Given the description of an element on the screen output the (x, y) to click on. 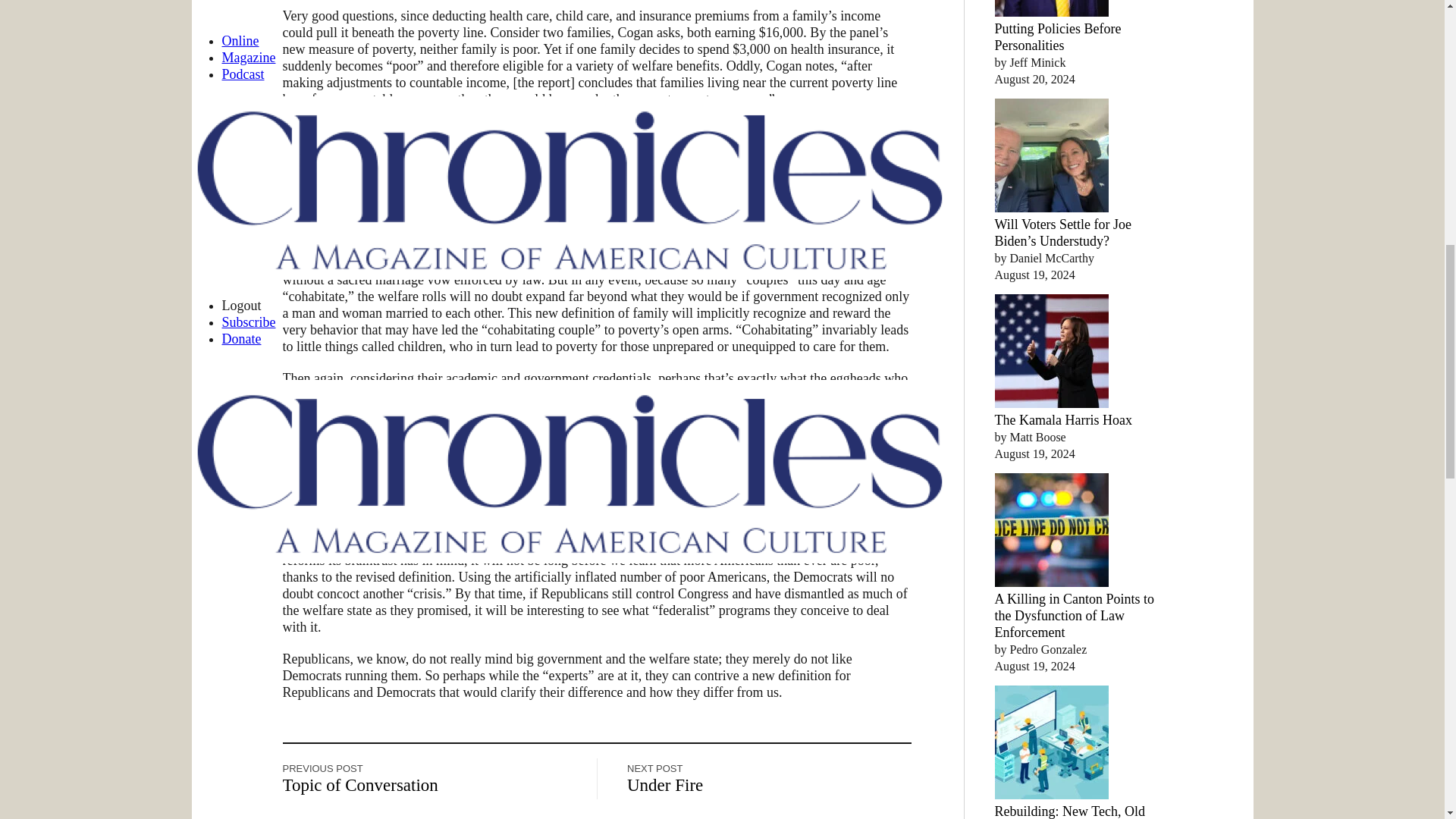
Rebuilding: New Tech, Old Principles (1069, 811)
Putting Policies Before Personalities (1057, 37)
Topic of Conversation (360, 785)
The Kamala Harris Hoax (1063, 419)
Under Fire (665, 785)
